Given the description of an element on the screen output the (x, y) to click on. 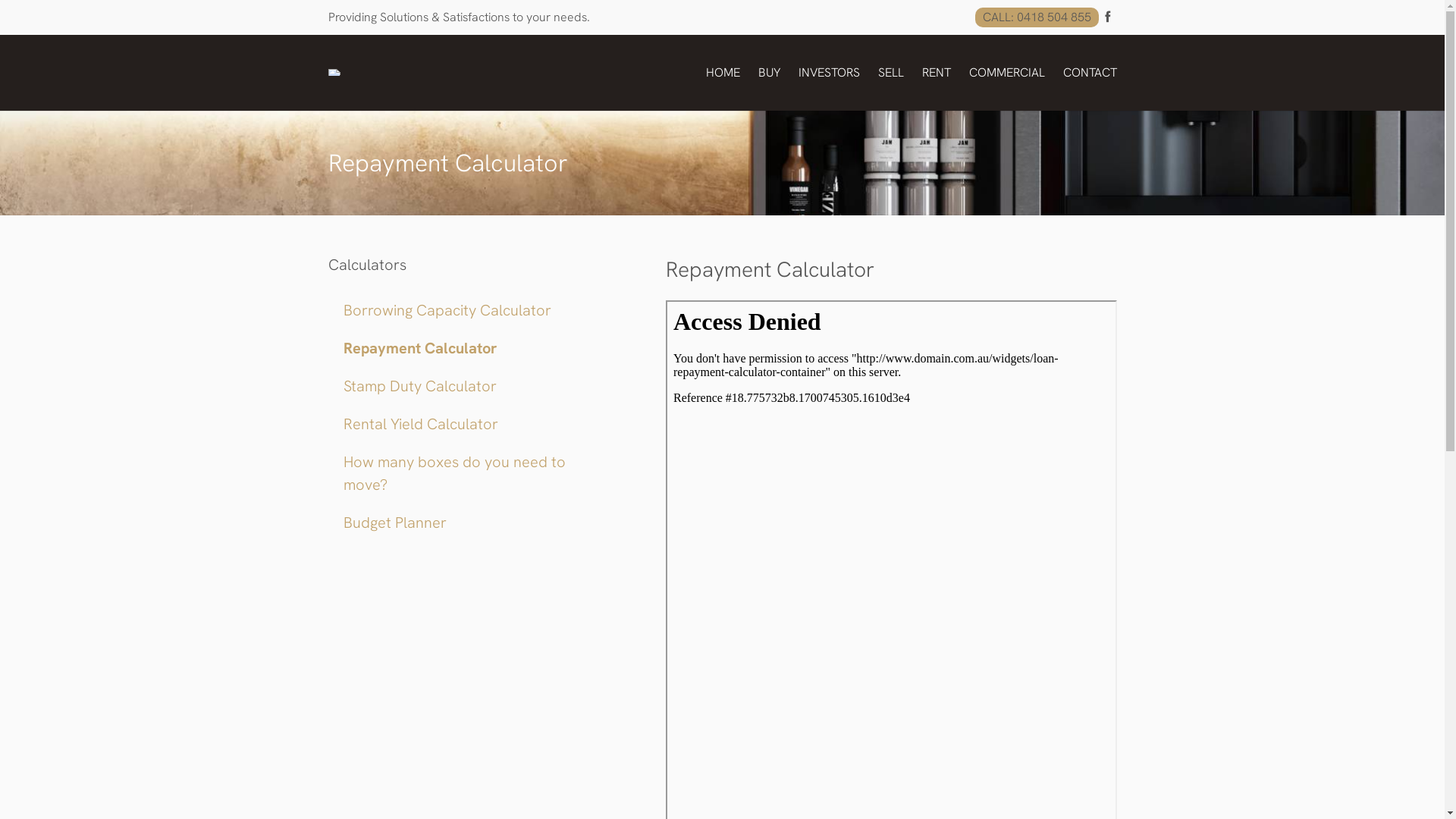
Borrowing Capacity Calculator Element type: text (446, 310)
CALL: 0418 504 855 Element type: text (1036, 16)
COMMERCIAL Element type: text (1006, 72)
Stamp Duty Calculator Element type: text (418, 385)
BUY Element type: text (769, 72)
HOME Element type: text (722, 72)
Budget Planner Element type: text (393, 522)
How many boxes do you need to move? Element type: text (453, 472)
Repayment Calculator Element type: text (419, 347)
SELL Element type: text (890, 72)
Rental Yield Calculator Element type: text (419, 423)
RENT Element type: text (936, 72)
CONTACT Element type: text (1090, 72)
INVESTORS Element type: text (828, 72)
